Given the description of an element on the screen output the (x, y) to click on. 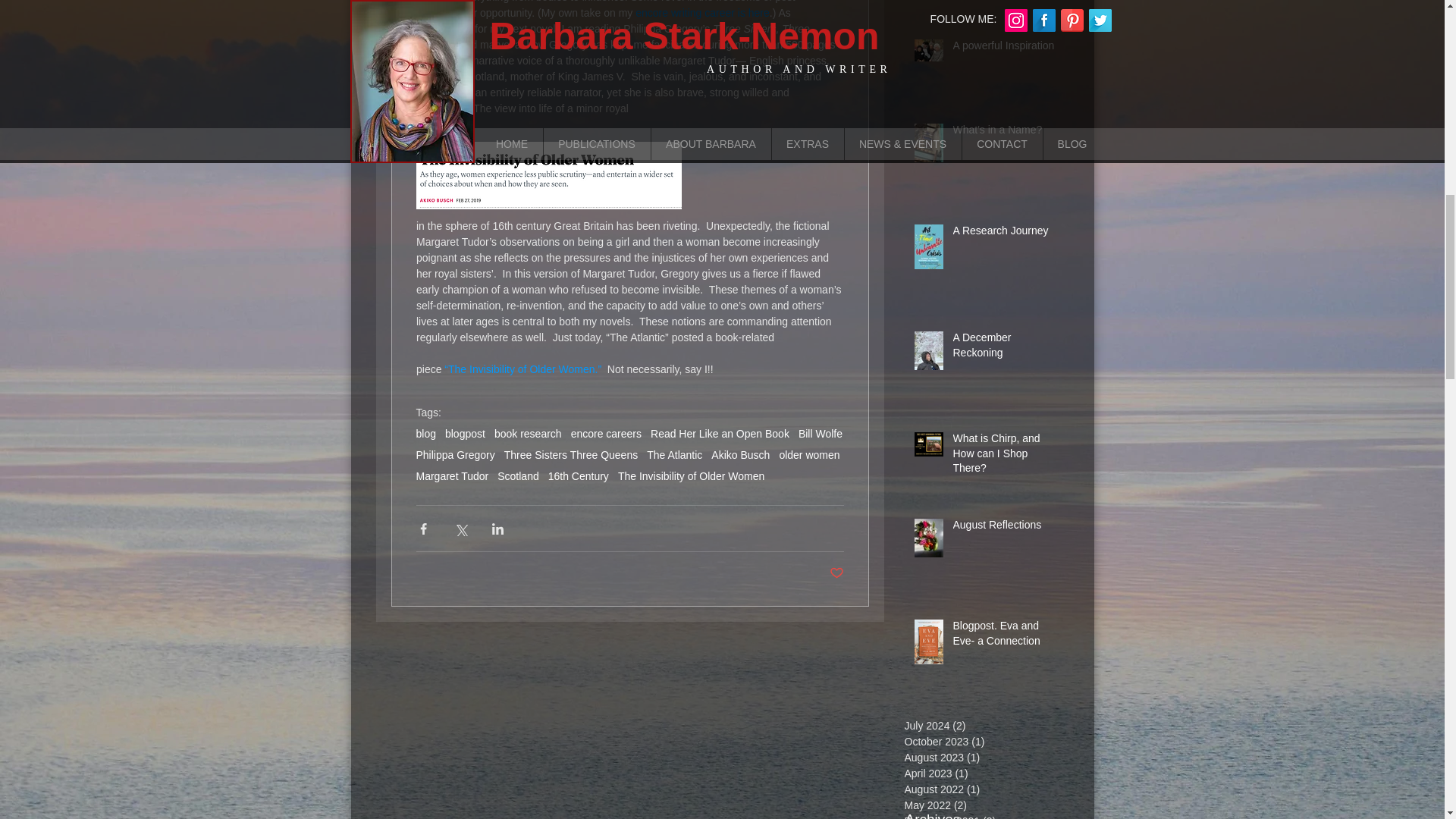
Blogpost. Eva and Eve- a Connection (1006, 636)
August Reflections (1006, 527)
A December Reckoning (1006, 348)
What's in a Name? (1006, 133)
A powerful Inspiration (1006, 48)
A Research Journey (1006, 233)
What is Chirp, and How can I Shop There? (1006, 456)
